Given the description of an element on the screen output the (x, y) to click on. 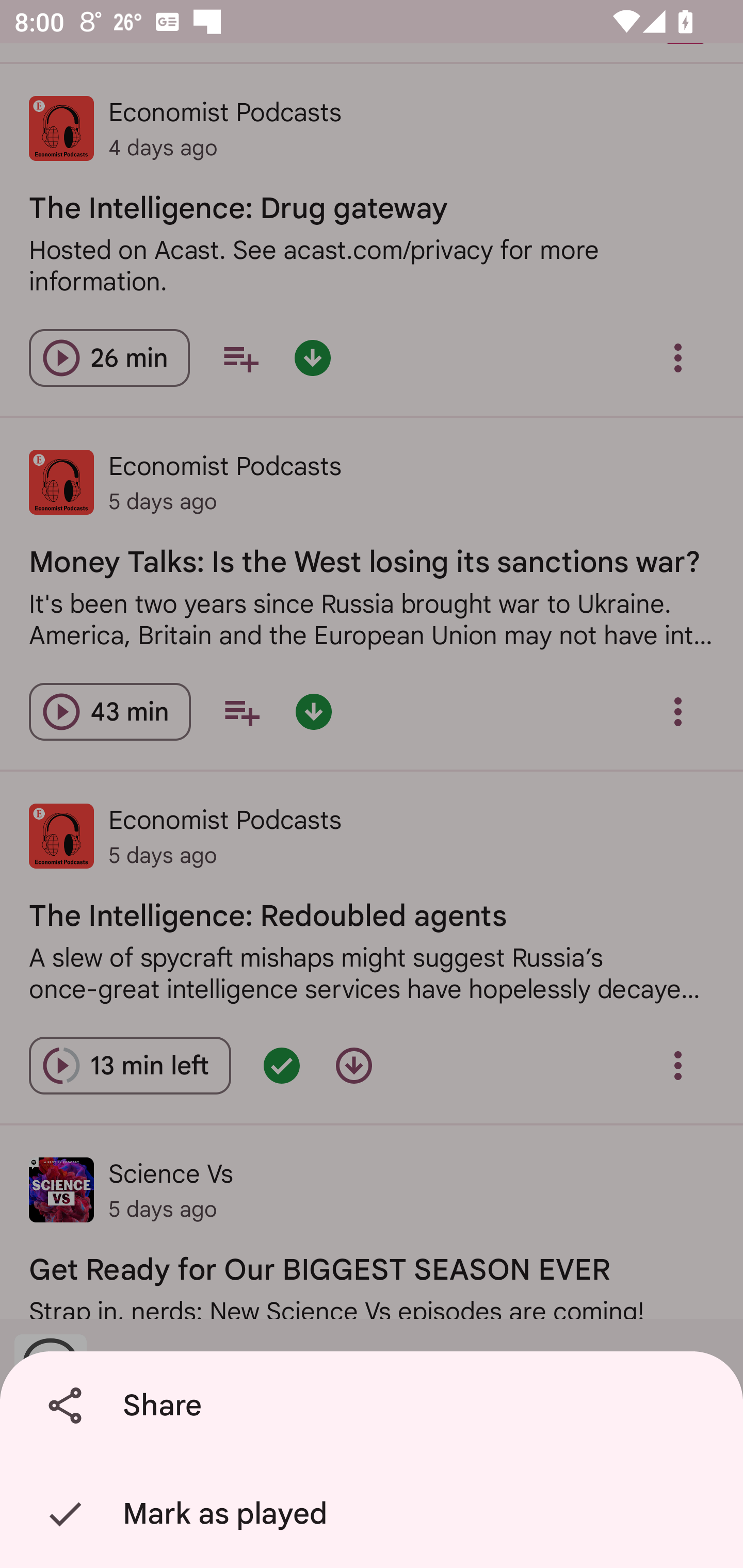
Share (375, 1405)
Mark as played (375, 1513)
